Given the description of an element on the screen output the (x, y) to click on. 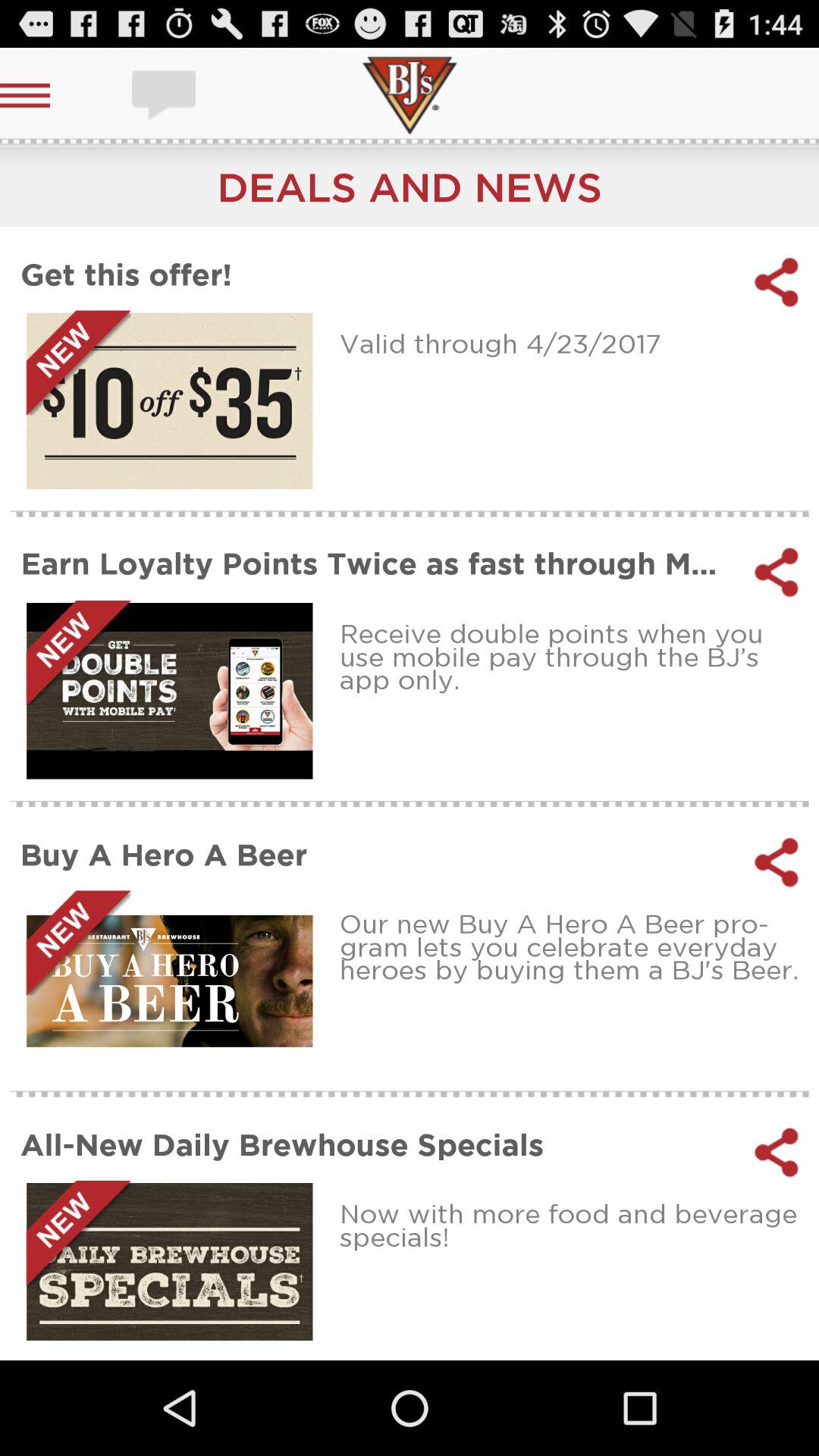
scroll until the our new buy (573, 946)
